Given the description of an element on the screen output the (x, y) to click on. 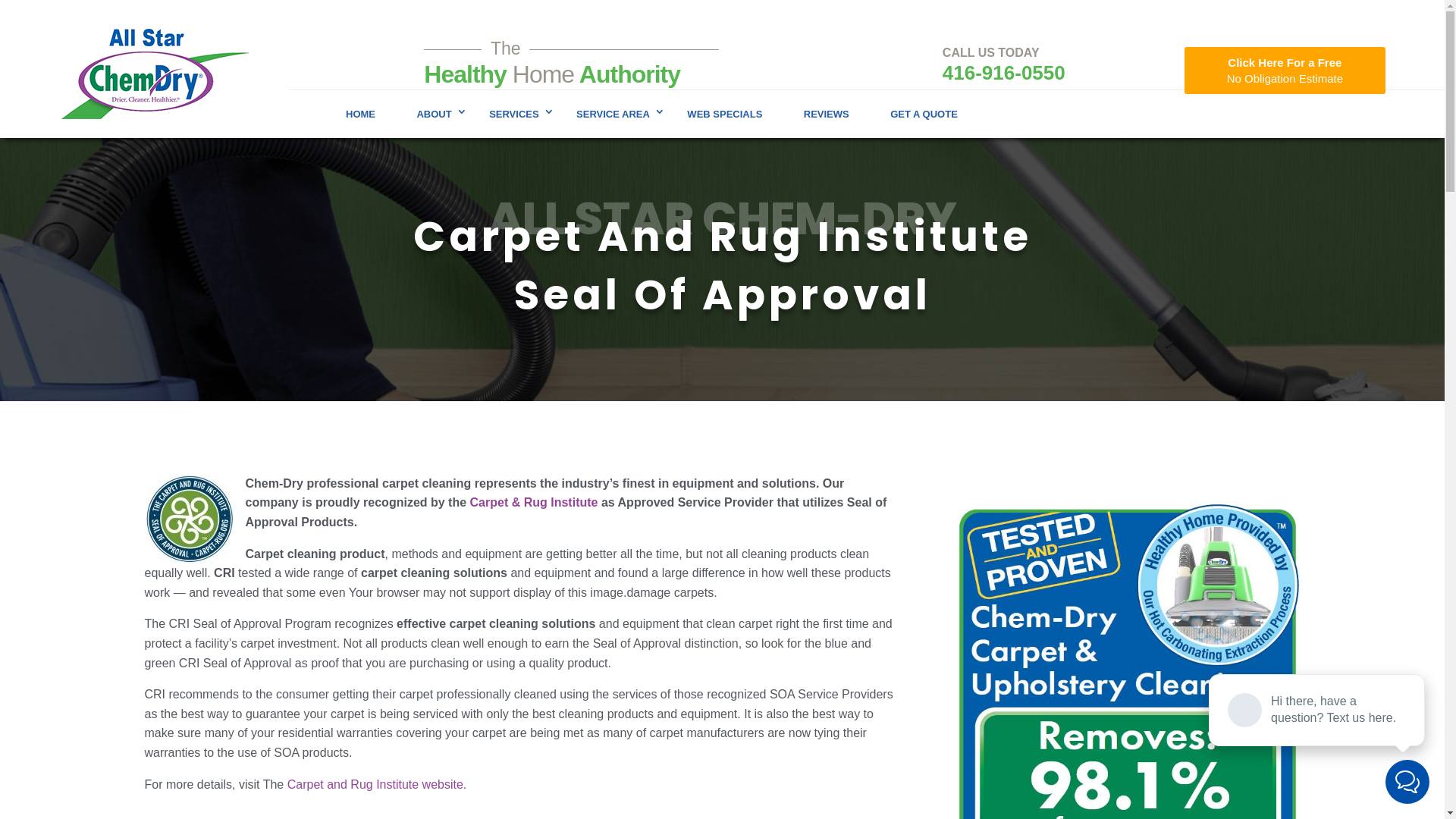
Click Here For a Free
No Obligation Estimate Element type: text (1284, 70)
SERVICES Element type: text (512, 113)
HOME Element type: text (360, 113)
Carpet and Rug Institute website. Element type: text (377, 784)
SERVICE AREA Element type: text (611, 113)
REVIEWS Element type: text (826, 113)
GET A QUOTE Element type: text (923, 113)
ABOUT Element type: text (431, 113)
Carpet & Rug Institute Element type: text (534, 501)
WEB SPECIALS Element type: text (724, 113)
416-916-0550 Element type: text (1003, 72)
